Given the description of an element on the screen output the (x, y) to click on. 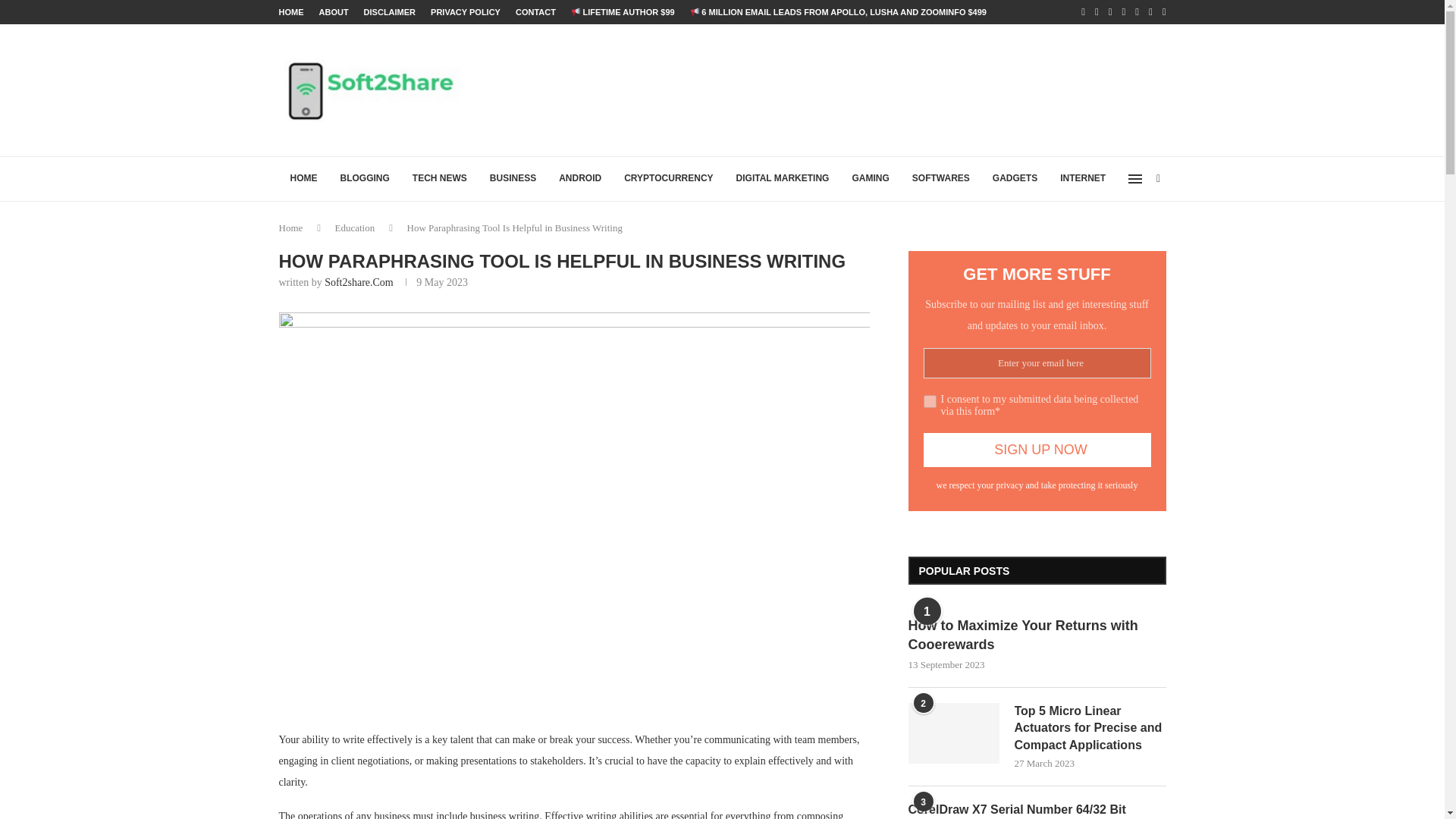
DIGITAL MARKETING (783, 178)
HOME (304, 178)
DISCLAIMER (389, 12)
Advertisement (890, 88)
TECH NEWS (440, 178)
CRYPTOCURRENCY (667, 178)
GAMING (869, 178)
BUSINESS (513, 178)
PRIVACY POLICY (465, 12)
Education (354, 227)
SOFTWARES (941, 178)
INTERNET (1082, 178)
BLOGGING (365, 178)
Sign Up Now (1037, 449)
Home (290, 227)
